Given the description of an element on the screen output the (x, y) to click on. 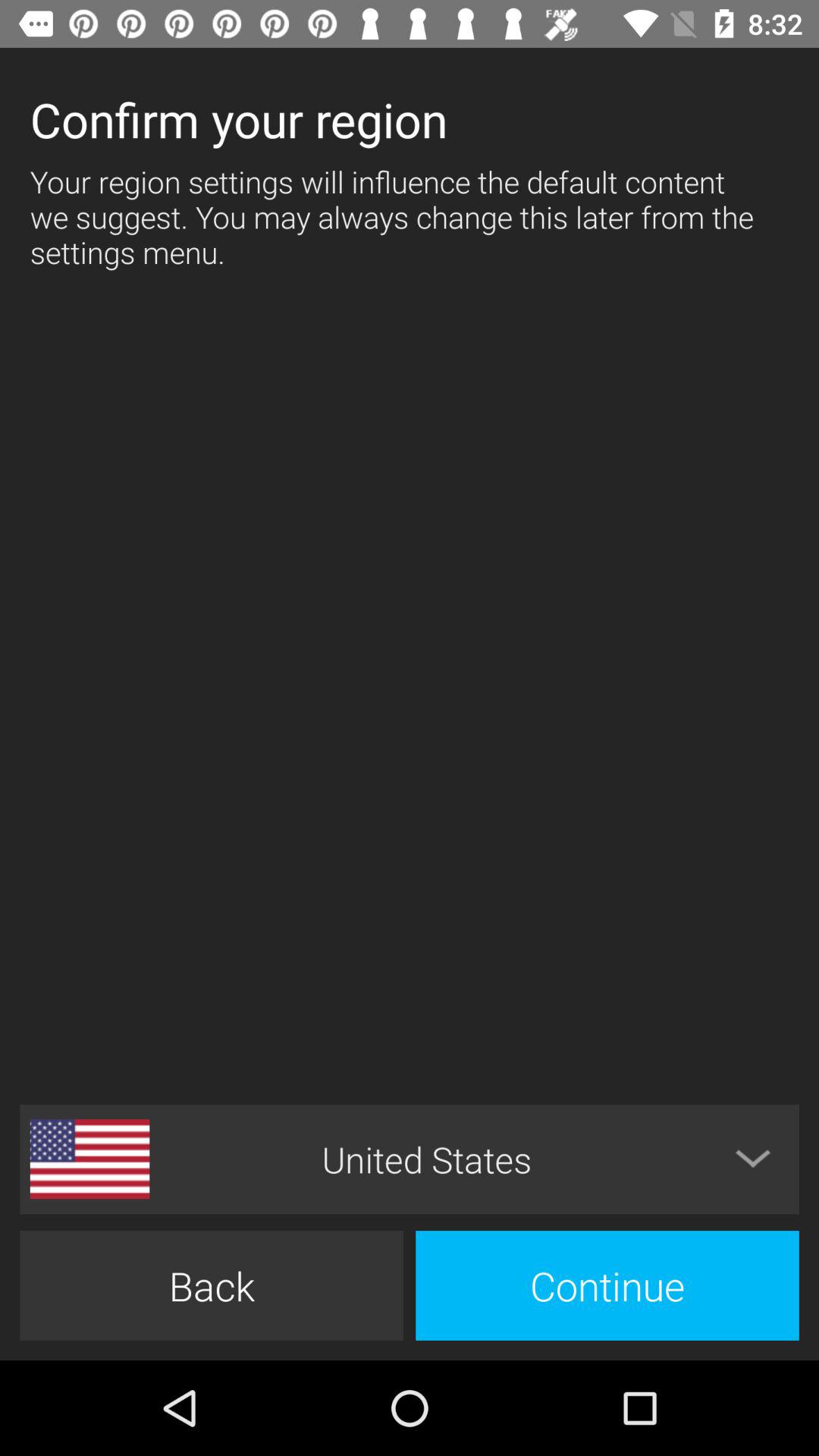
press item to the left of the continue (211, 1285)
